Given the description of an element on the screen output the (x, y) to click on. 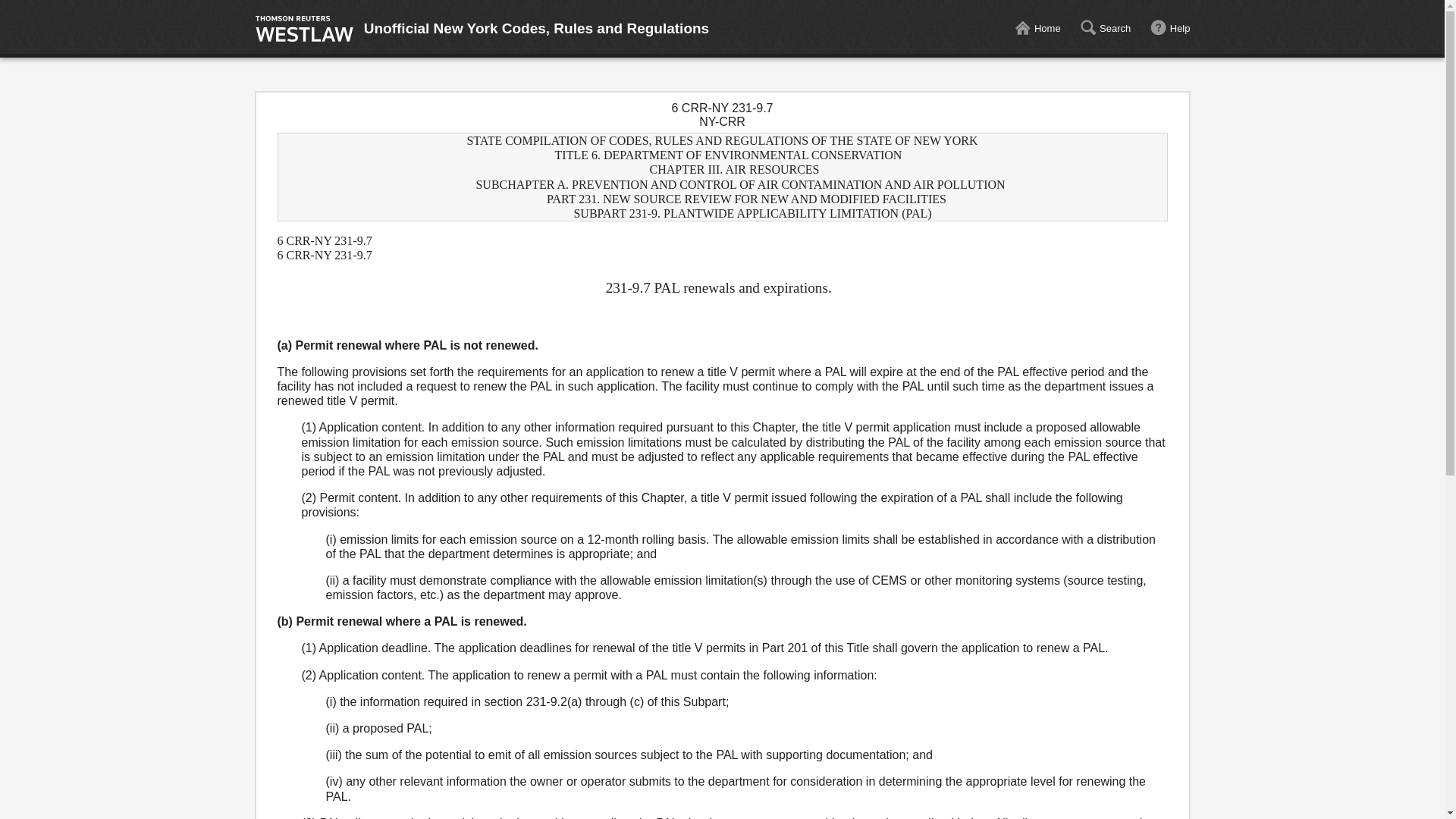
Help (1170, 28)
Thomson Reuters Westlaw (303, 28)
Unofficial New York Codes, Rules and Regulations (536, 28)
Home (1037, 28)
Search (1104, 28)
